Given the description of an element on the screen output the (x, y) to click on. 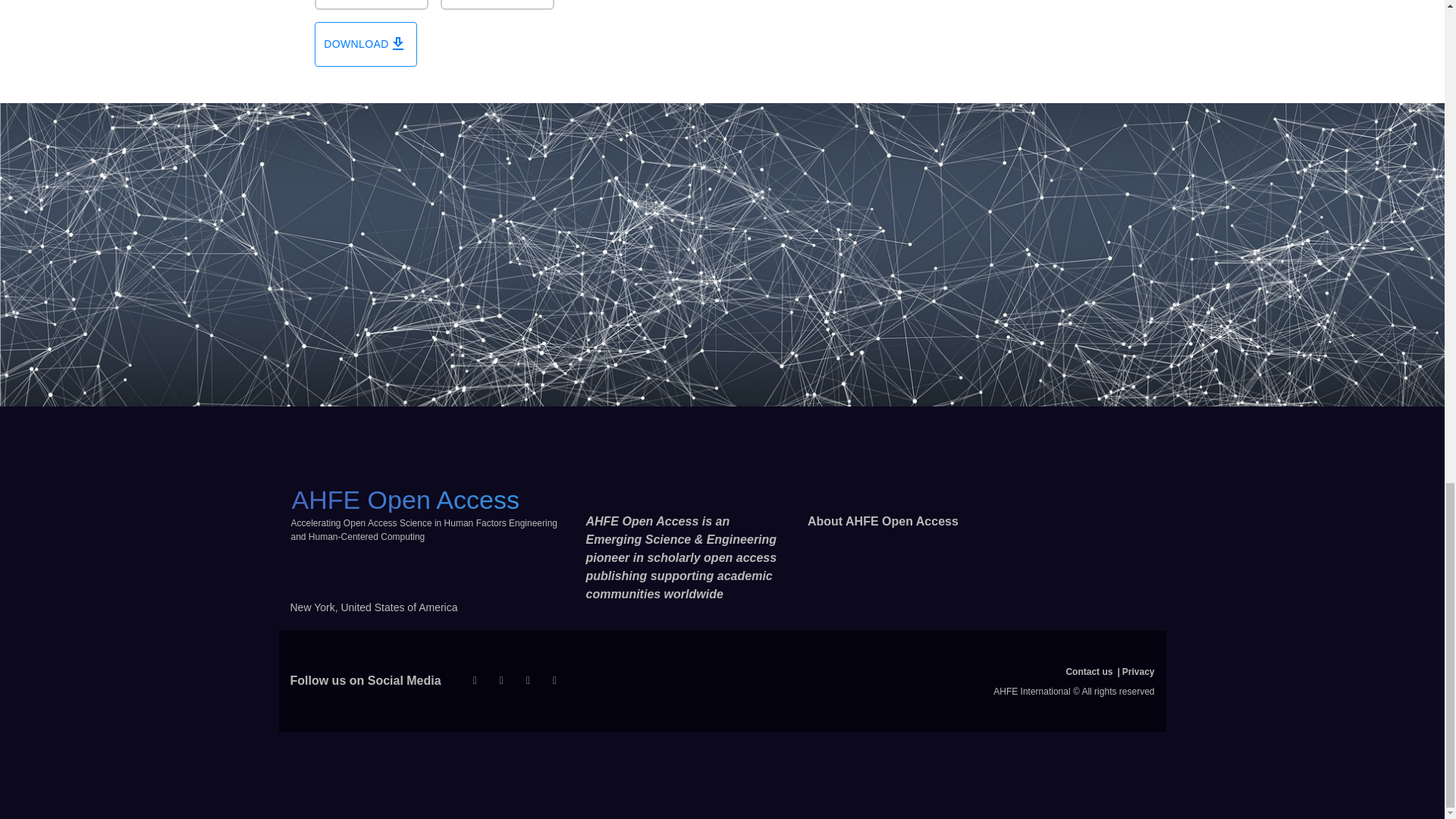
DOWNLOAD (365, 44)
About AHFE Open Access (883, 521)
